Given the description of an element on the screen output the (x, y) to click on. 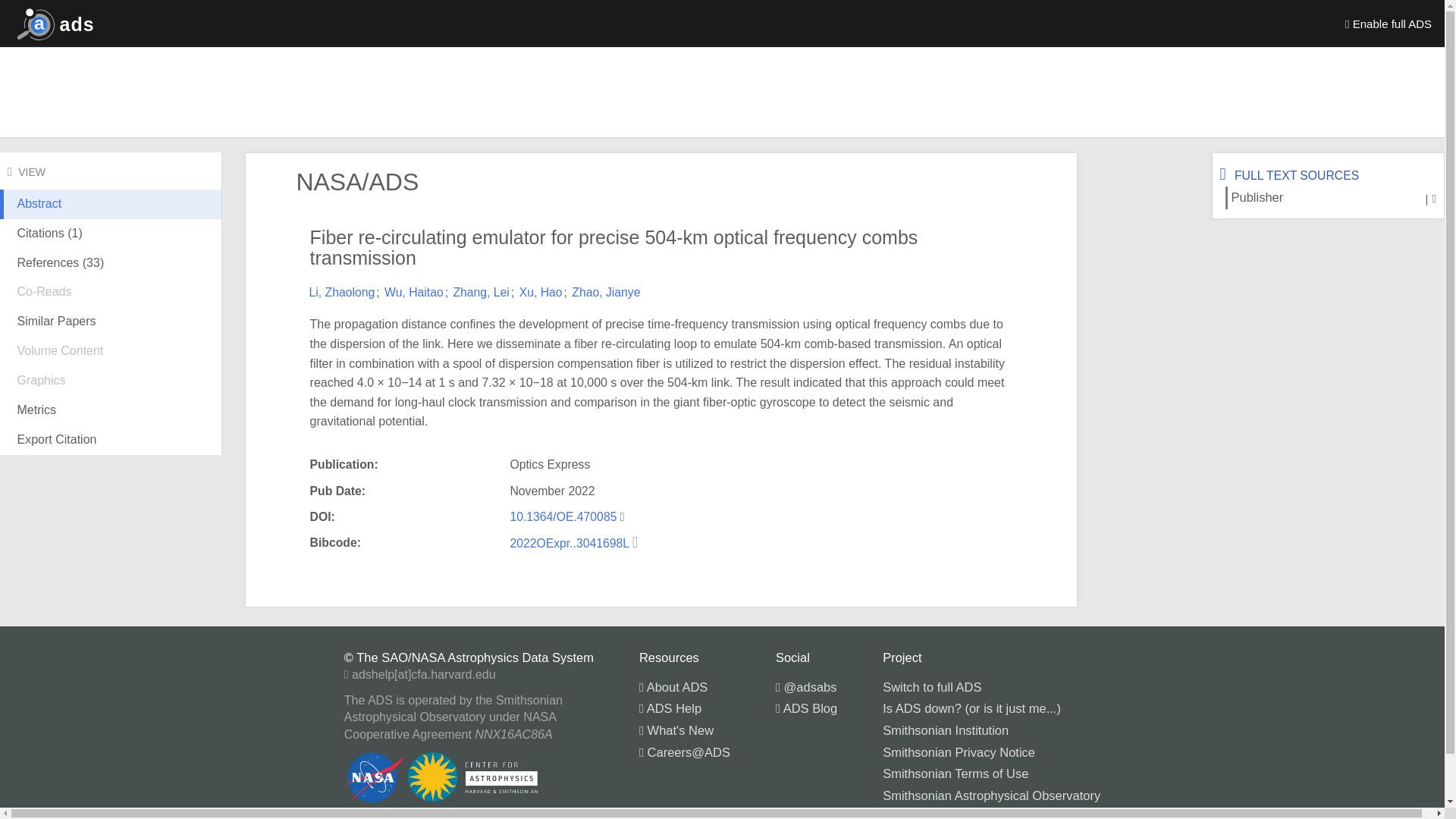
What's New (676, 730)
NASA (899, 814)
ads (51, 22)
ADS Help (670, 707)
Switch to full ADS (931, 686)
2022OExpr..3041698L (570, 543)
Wu, Haitao (414, 291)
Enable full ADS (1388, 23)
Abstract (110, 215)
ADS Blog (806, 707)
Smithsonian Astrophysical Observatory (991, 795)
Li, Zhaolong (341, 291)
Smithsonian Terms of Use (954, 773)
Similar Papers (110, 321)
Zhao, Jianye (606, 291)
